Given the description of an element on the screen output the (x, y) to click on. 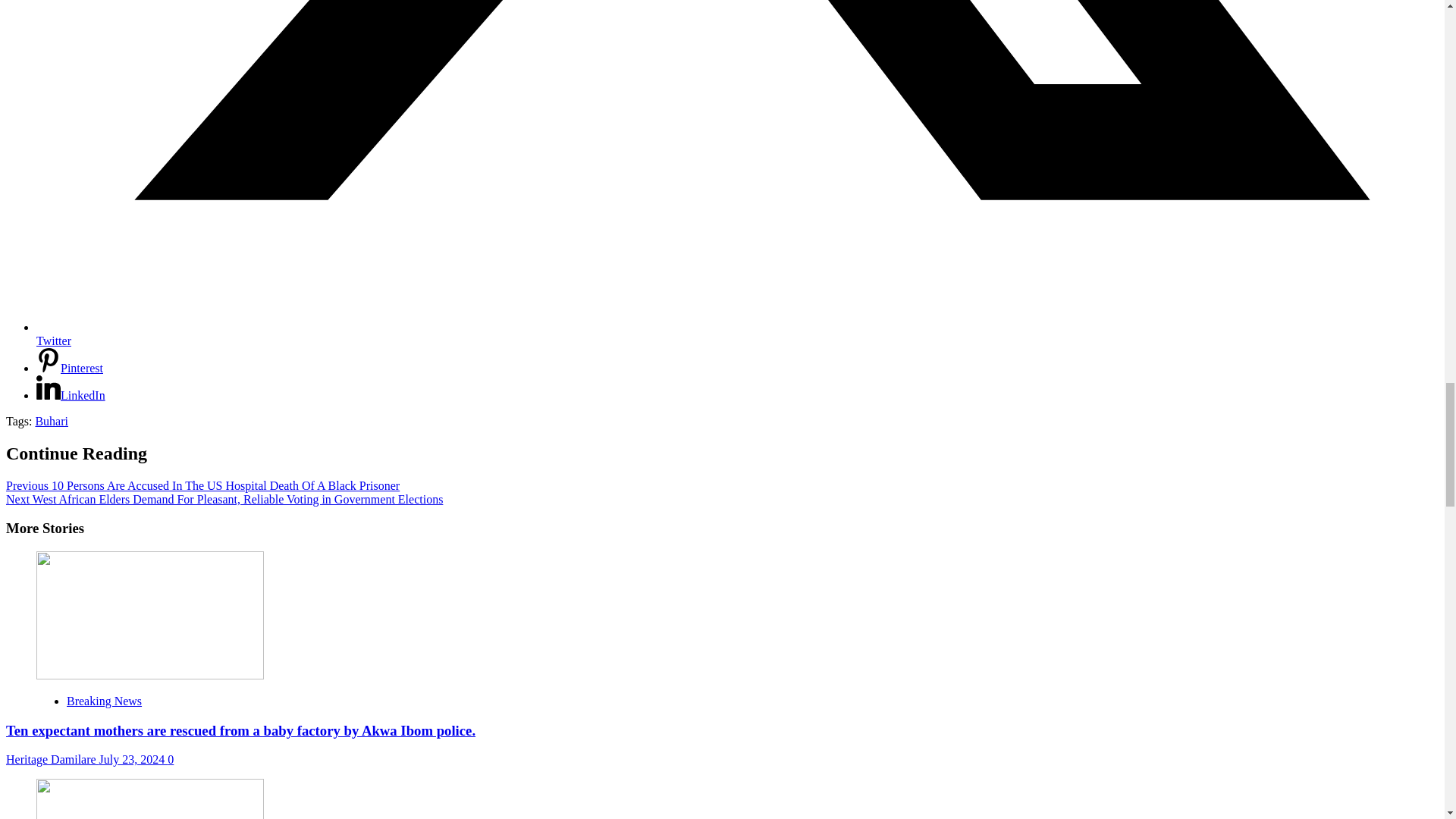
July 23, 2024 (133, 758)
Pinterest (69, 367)
Heritage Damilare (52, 758)
Share on Pinterest (69, 367)
Buhari (51, 420)
Breaking News (103, 700)
Share on LinkedIn (70, 395)
LinkedIn (70, 395)
